Given the description of an element on the screen output the (x, y) to click on. 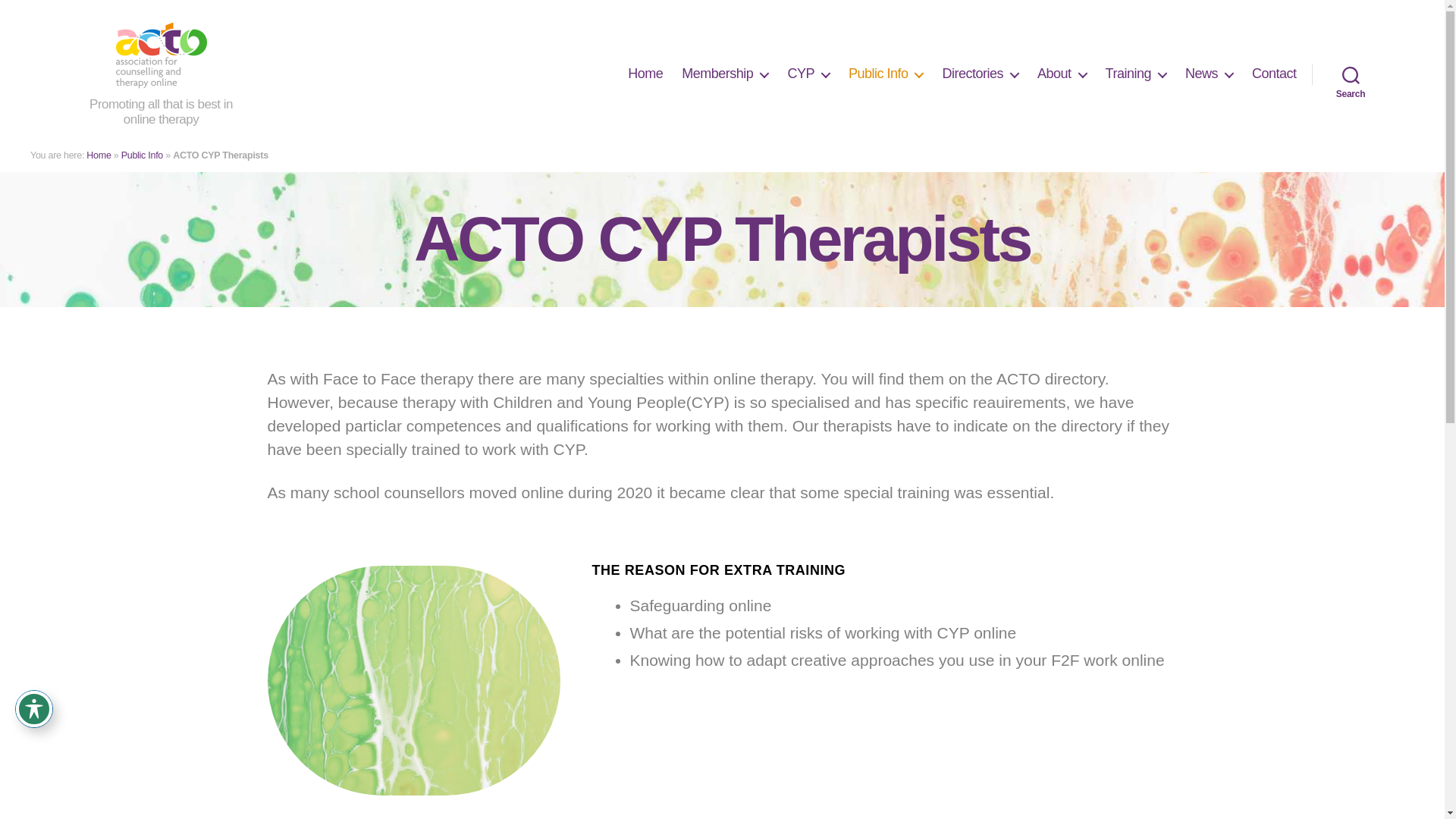
About (1061, 74)
Home (644, 74)
CYP (808, 74)
Public Info (885, 74)
Membership (724, 74)
Directories (979, 74)
